Given the description of an element on the screen output the (x, y) to click on. 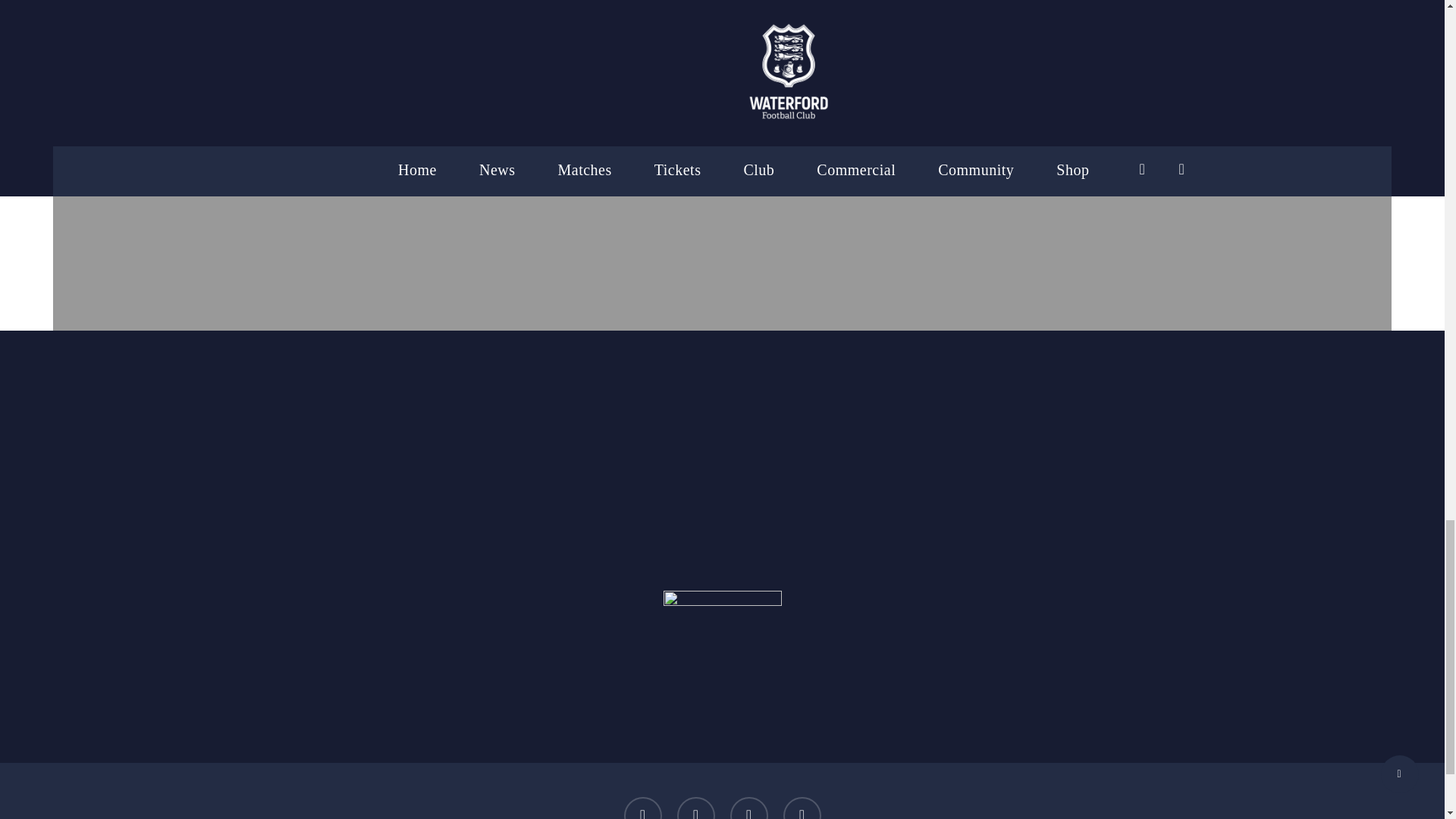
MATCH PREVIEW: Derry City v Waterford FC (722, 100)
twitter (642, 807)
youtube (748, 807)
instagram (802, 807)
facebook (695, 807)
